Given the description of an element on the screen output the (x, y) to click on. 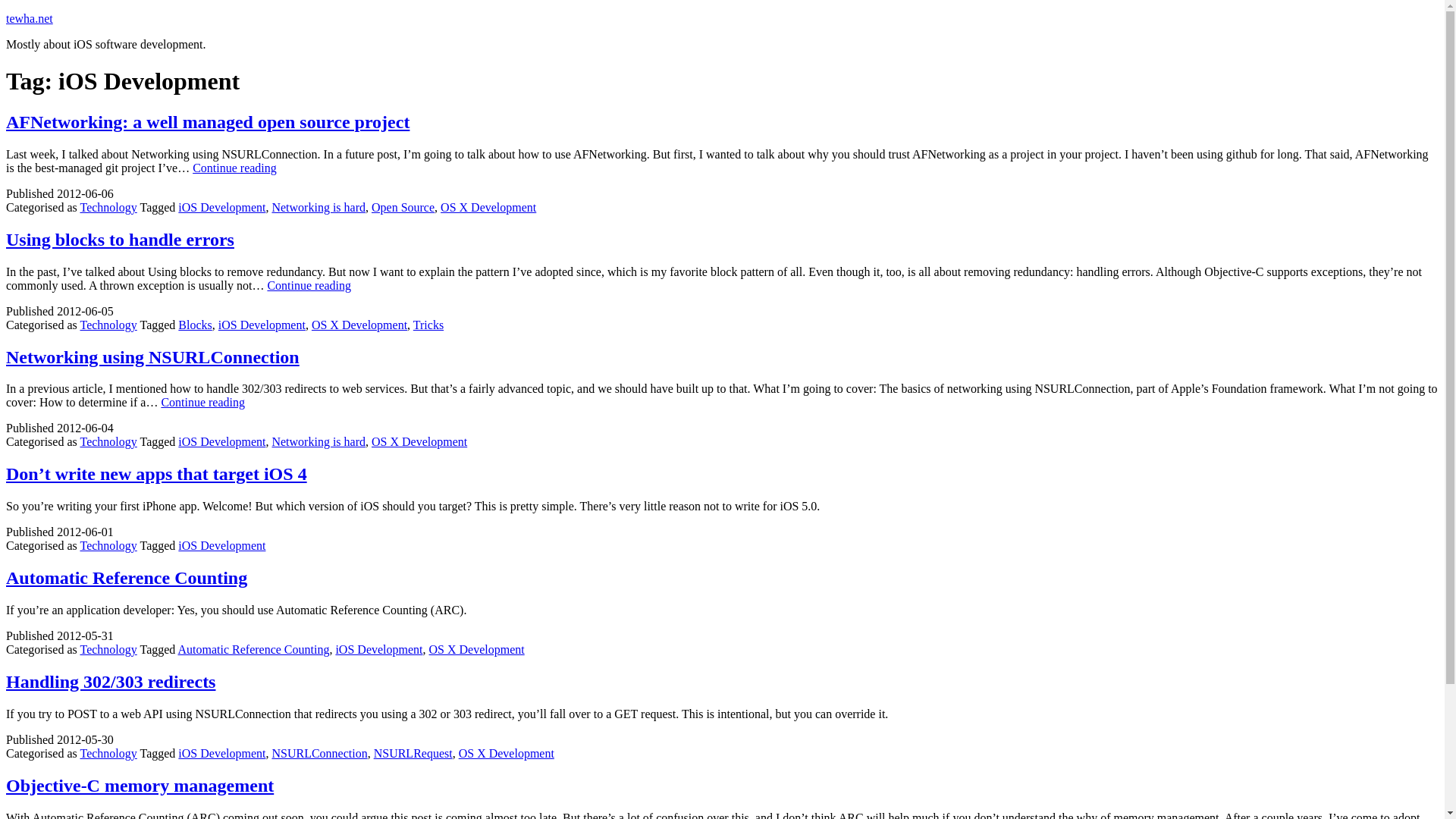
iOS Development (378, 649)
OS X Development (506, 753)
Blocks (194, 324)
iOS Development (261, 324)
Technology (108, 324)
iOS Development (220, 440)
OS X Development (359, 324)
Technology (108, 545)
